Given the description of an element on the screen output the (x, y) to click on. 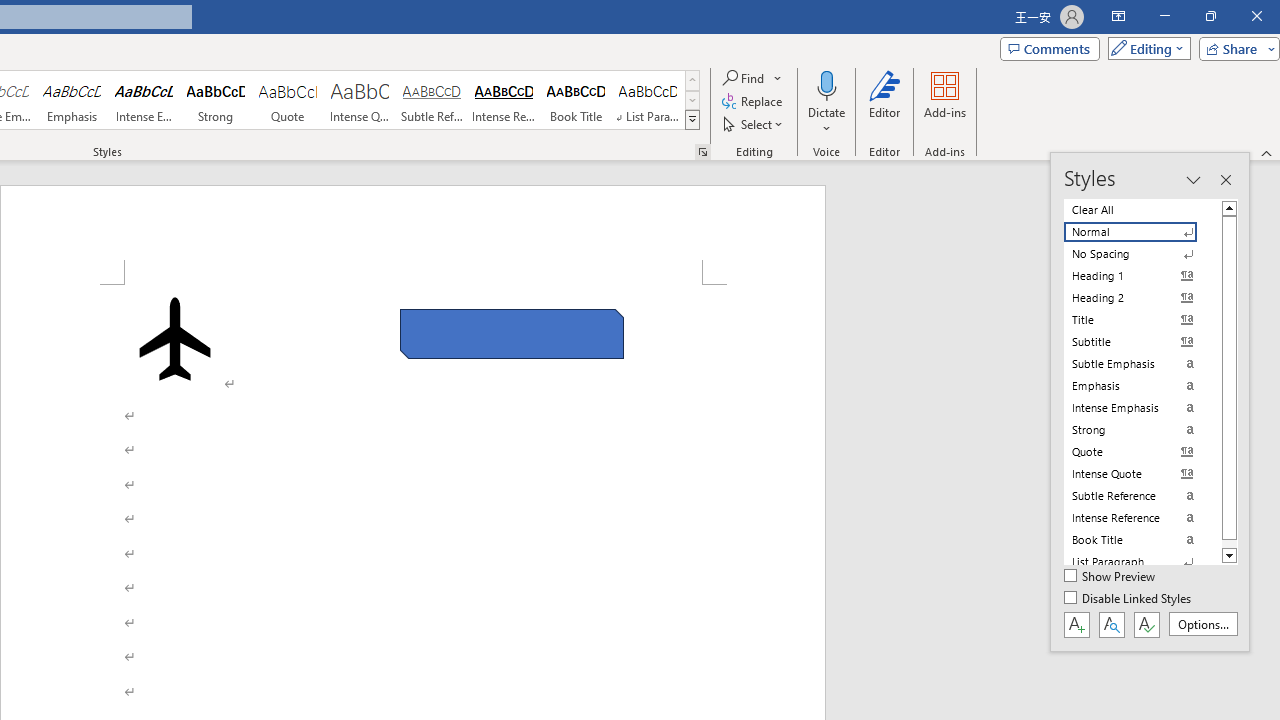
Editing (1144, 47)
Heading 2 (1142, 297)
List Paragraph (1142, 561)
Row up (692, 79)
Intense Quote (359, 100)
No Spacing (1142, 253)
Find (753, 78)
Class: NetUIButton (1146, 624)
Dictate (826, 84)
Replace... (753, 101)
Clear All (1142, 209)
Select (754, 124)
Editor (885, 102)
Show Preview (1110, 577)
